Given the description of an element on the screen output the (x, y) to click on. 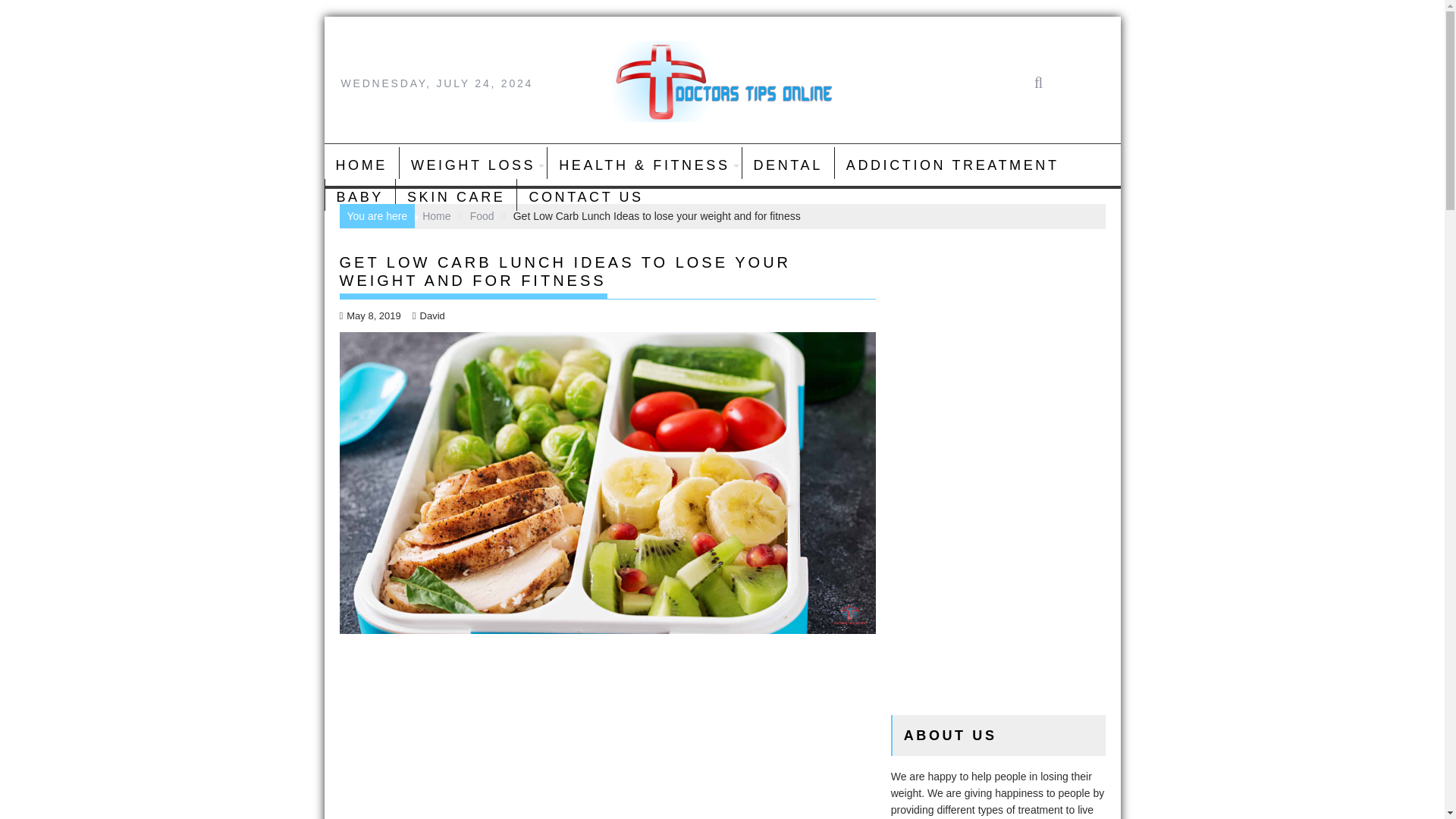
Food (482, 215)
CONTACT US (584, 197)
Advertisement (607, 742)
BABY (359, 197)
HOME (361, 165)
May 8, 2019 (370, 315)
SKIN CARE (456, 197)
WEIGHT LOSS (472, 165)
ADDICTION TREATMENT (952, 165)
DENTAL (786, 165)
David (428, 315)
Home (435, 215)
Advertisement (998, 471)
